Given the description of an element on the screen output the (x, y) to click on. 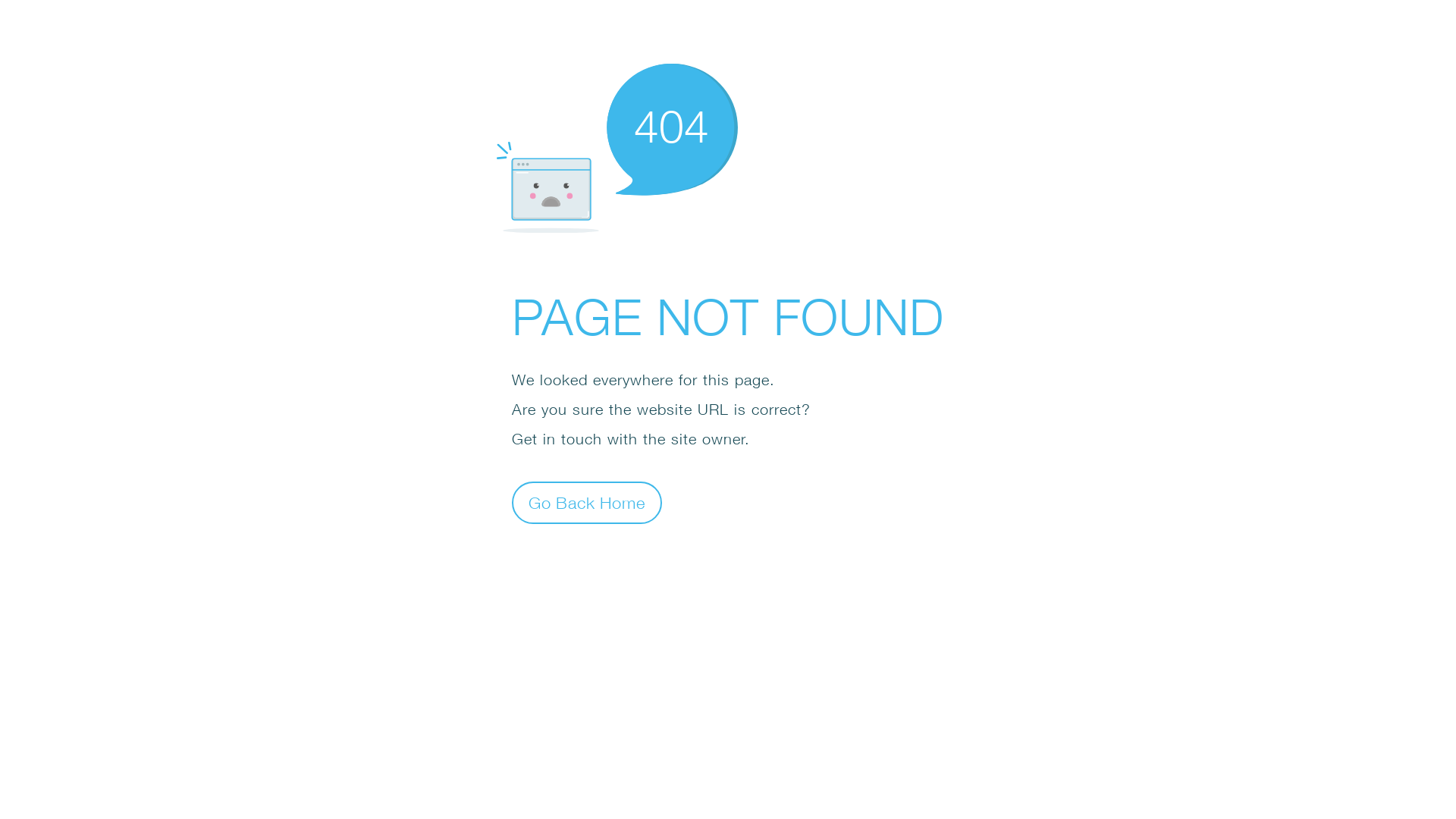
Go Back Home Element type: text (586, 502)
